Given the description of an element on the screen output the (x, y) to click on. 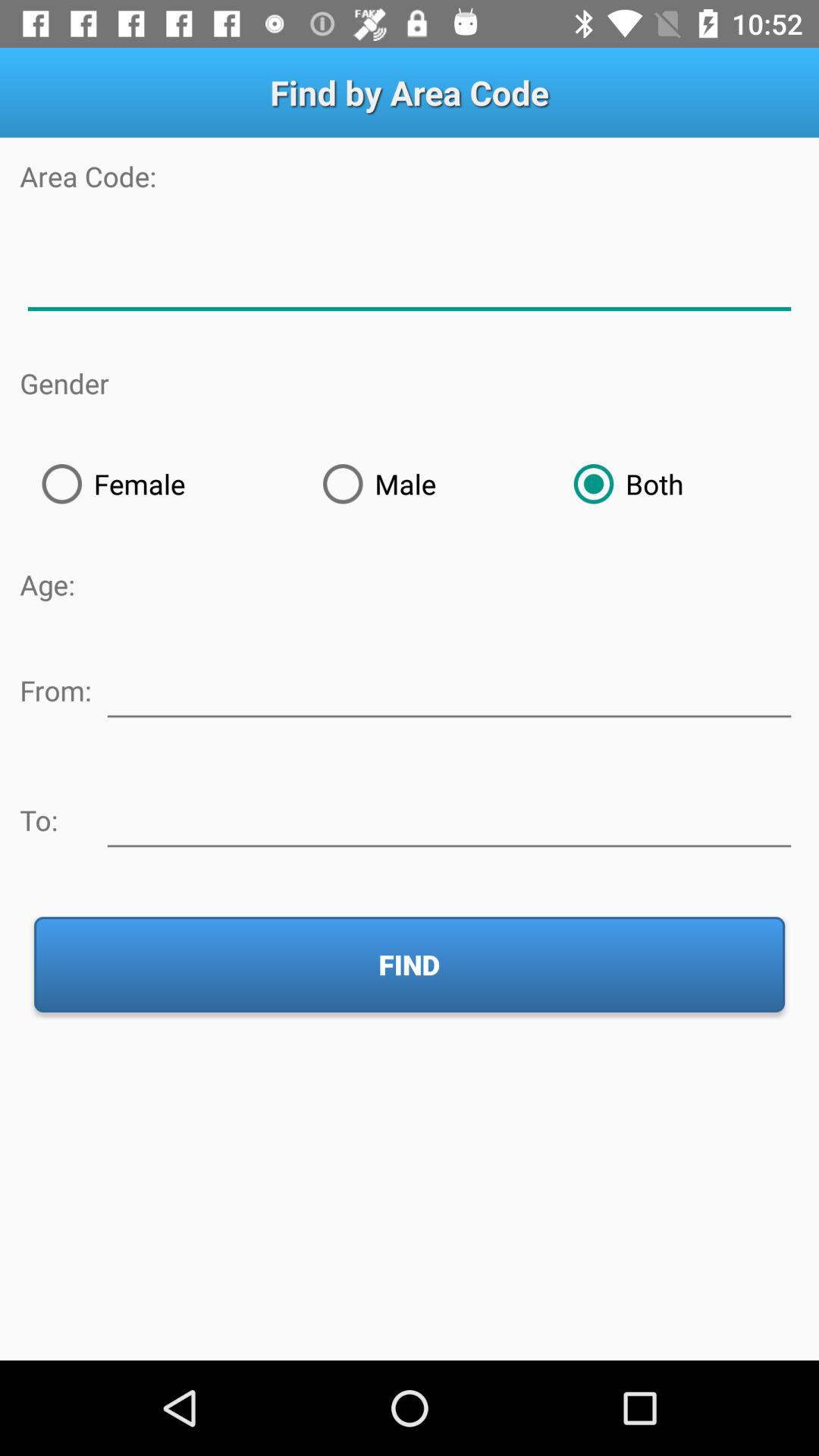
press the female icon (160, 483)
